Given the description of an element on the screen output the (x, y) to click on. 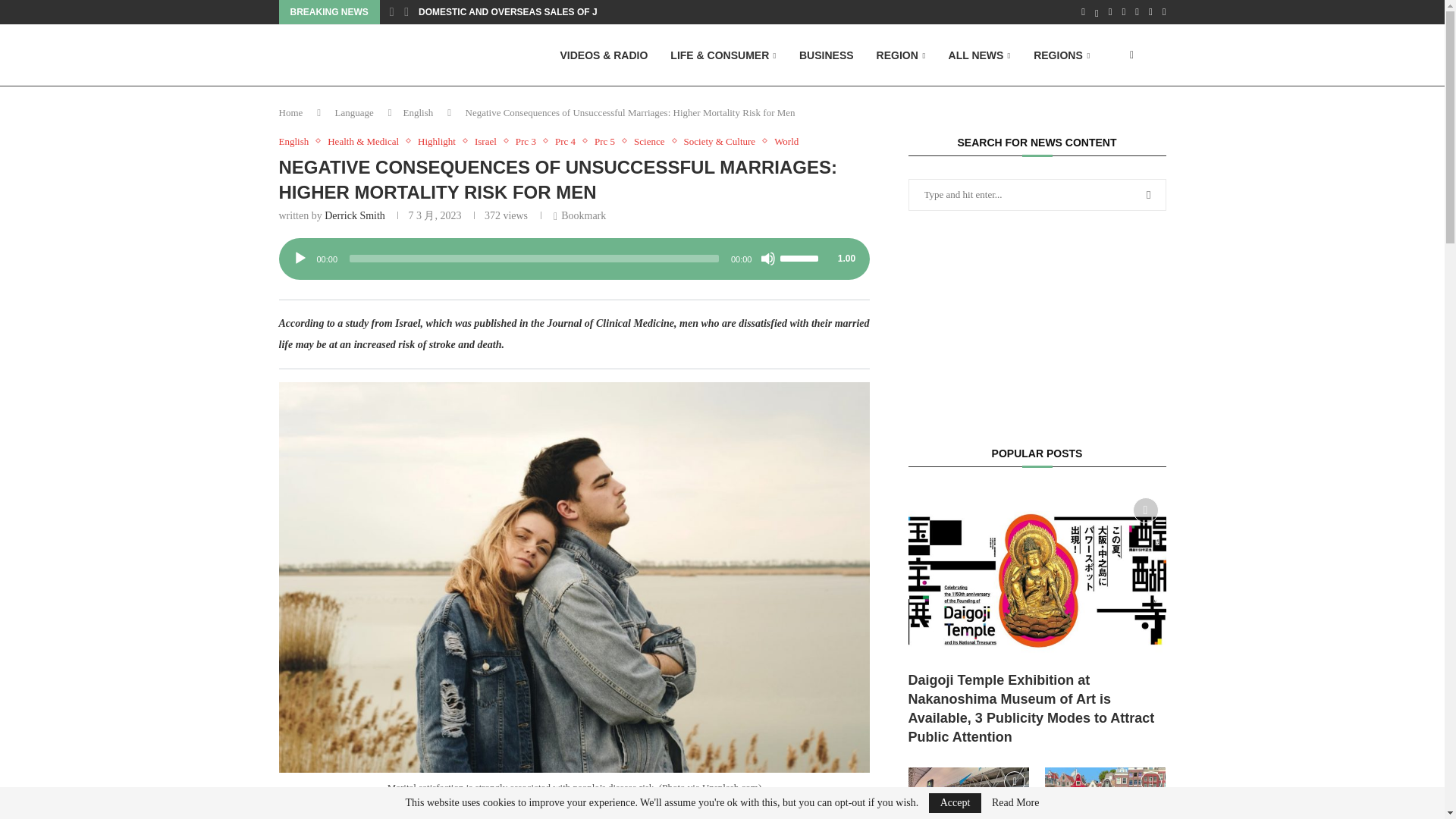
Bookmark (1158, 55)
REGION (901, 55)
ALL NEWS (980, 55)
BUSINESS (826, 55)
